Given the description of an element on the screen output the (x, y) to click on. 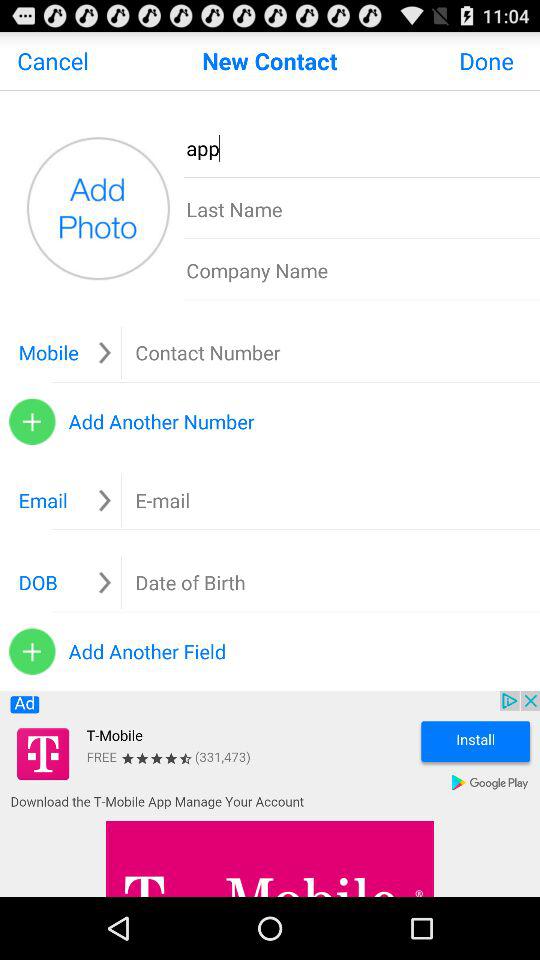
mobile phone field for new contact (251, 352)
